Given the description of an element on the screen output the (x, y) to click on. 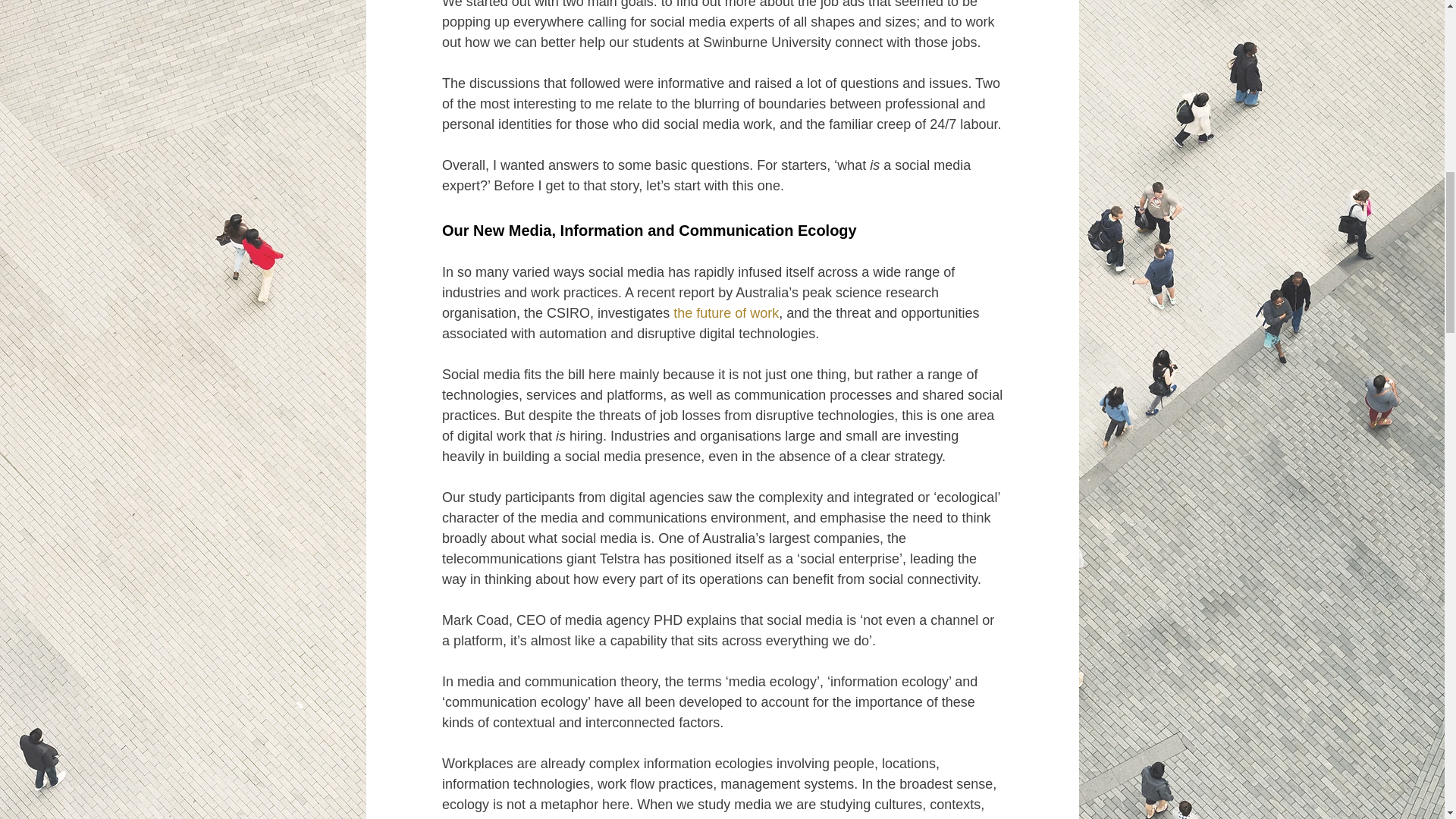
the future of work (725, 313)
